Given the description of an element on the screen output the (x, y) to click on. 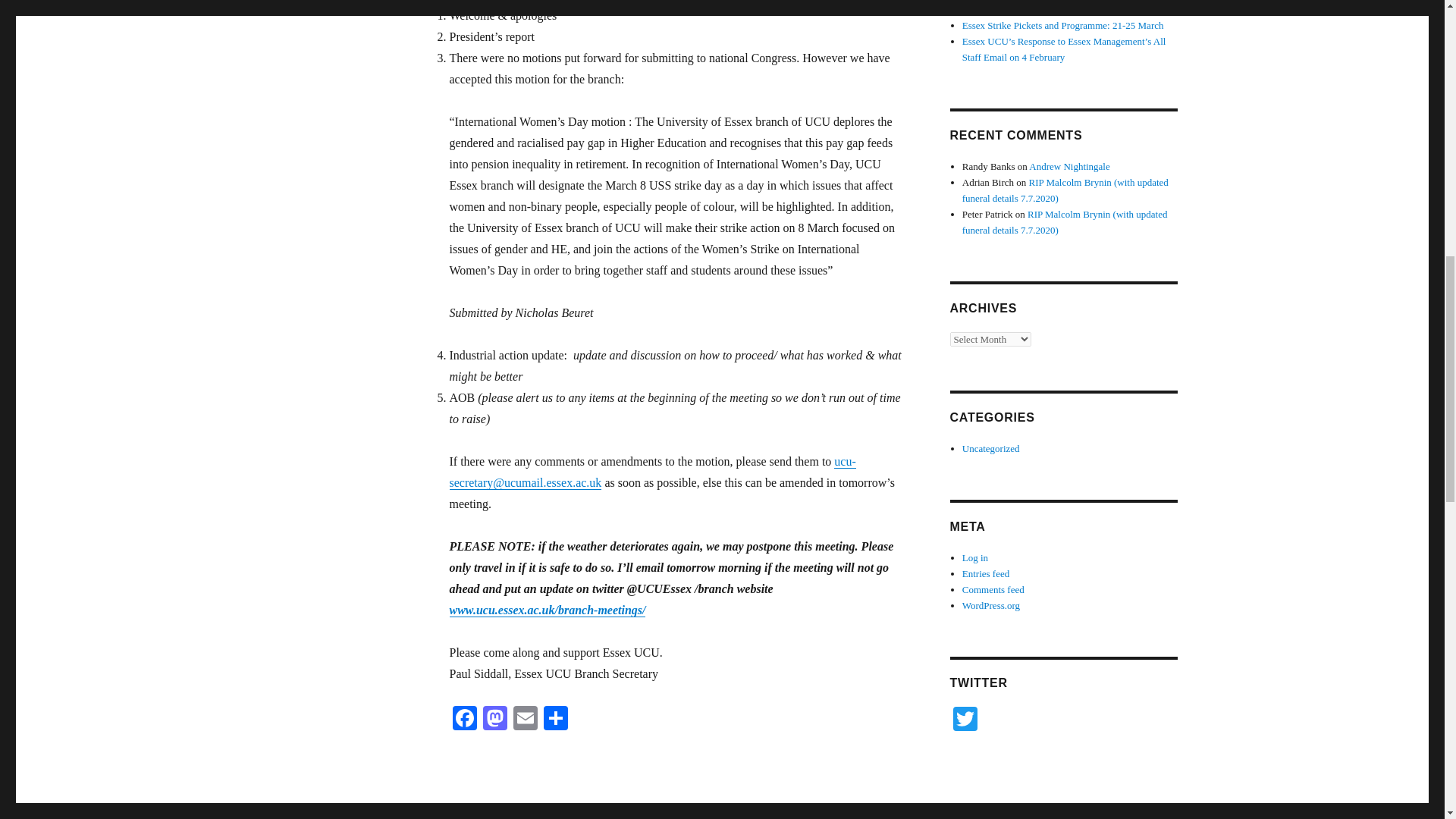
Uncategorized (991, 448)
Mastodon (494, 719)
Share (555, 719)
Facebook (463, 719)
Comments feed (993, 589)
Mastodon (494, 719)
Andrew Nightingale (1069, 165)
Entries feed (985, 573)
Email (524, 719)
Twitter (964, 720)
Email (524, 719)
Log in (975, 557)
Facebook (463, 719)
Twitter (964, 720)
WordPress.org (991, 604)
